Given the description of an element on the screen output the (x, y) to click on. 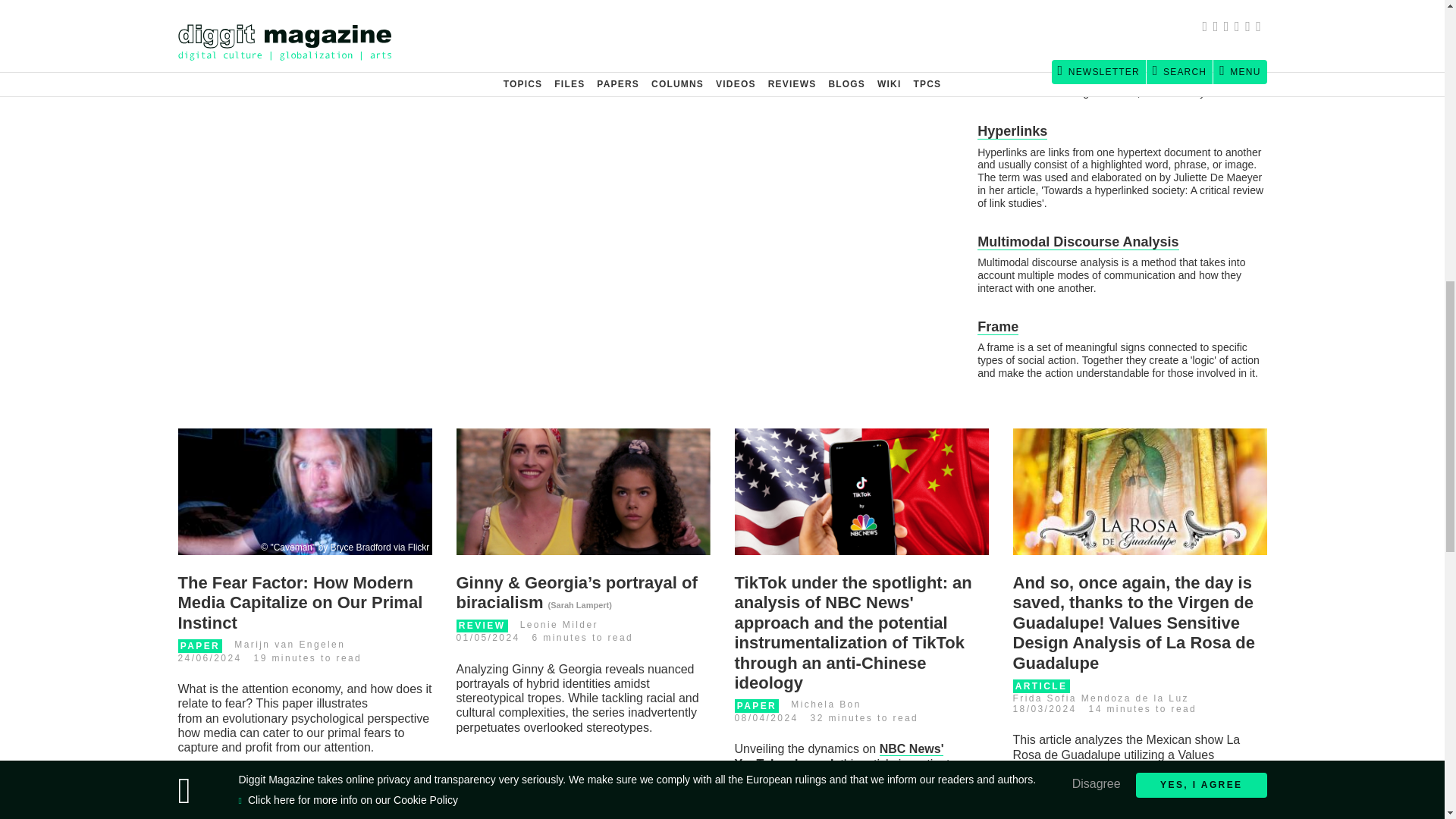
La Rosa de Guadalupe (1139, 492)
"Caveman" by Bryce Bradford (303, 492)
